Given the description of an element on the screen output the (x, y) to click on. 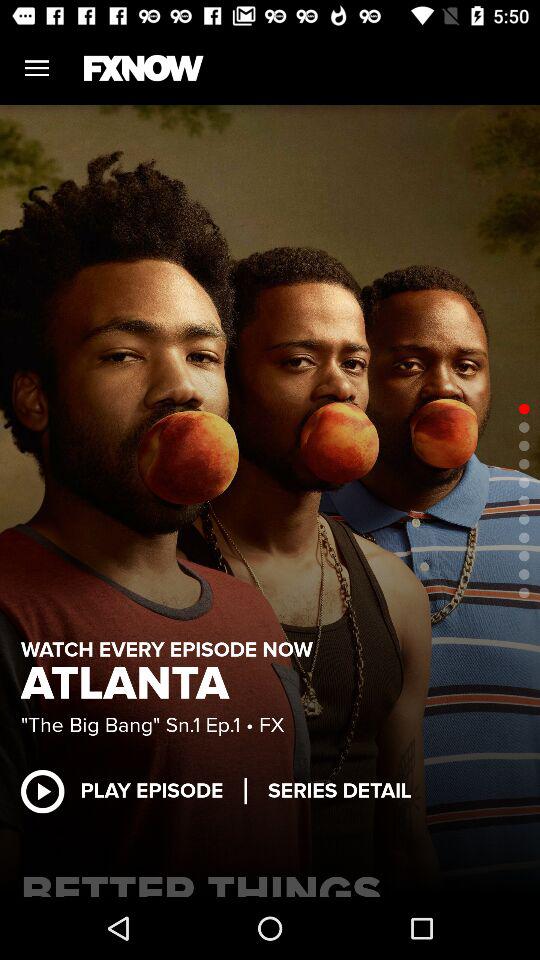
choose series detail (339, 790)
